Given the description of an element on the screen output the (x, y) to click on. 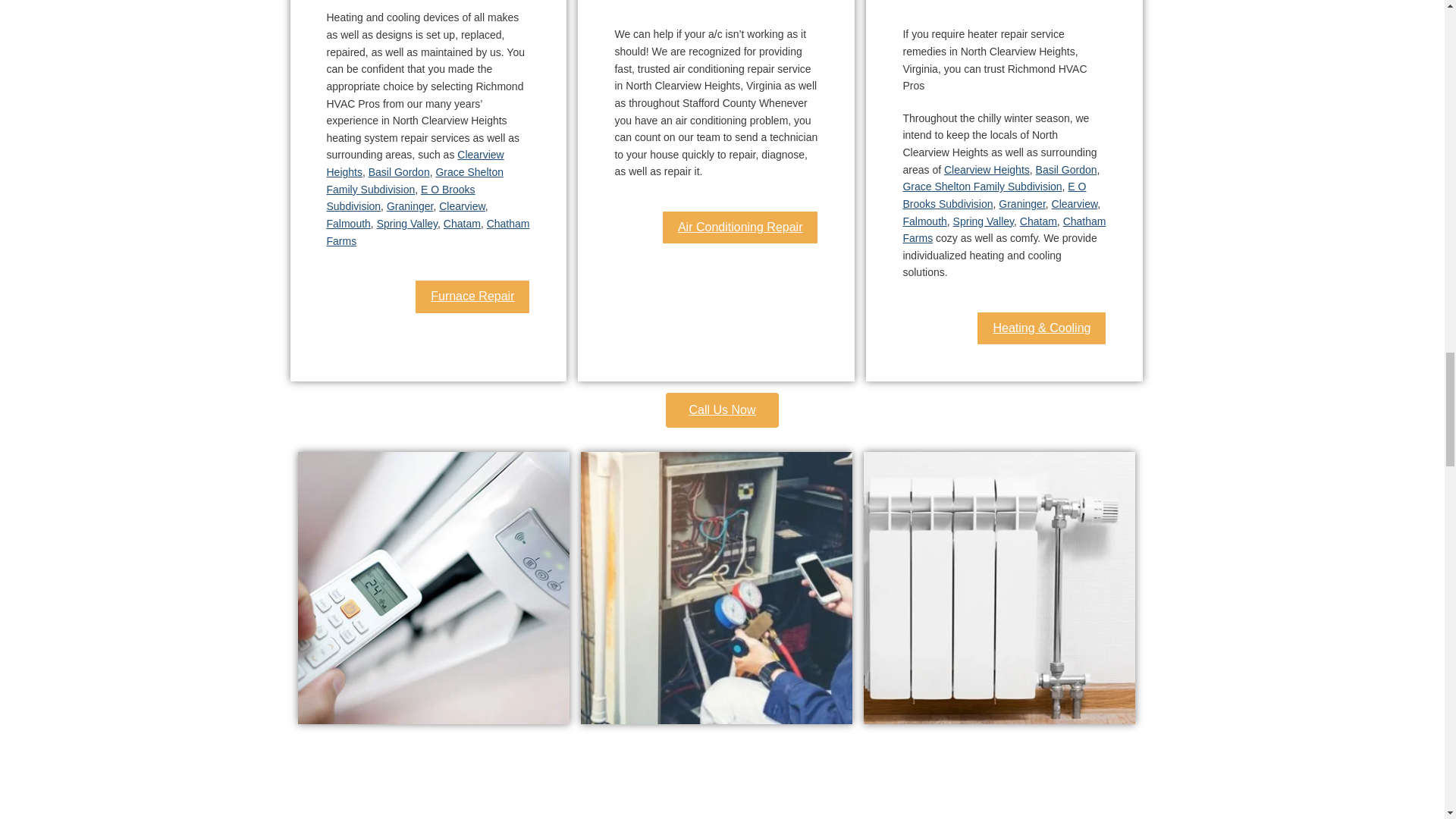
Furnace Repair (471, 296)
Grace Shelton Family Subdivision (414, 180)
Graninger (1021, 203)
Clearview (461, 205)
E O Brooks Subdivision (994, 194)
Falmouth (924, 221)
heating and air richmond 38 (715, 587)
Spring Valley (983, 221)
Clearview Heights (414, 163)
Basil Gordon (1066, 169)
